Given the description of an element on the screen output the (x, y) to click on. 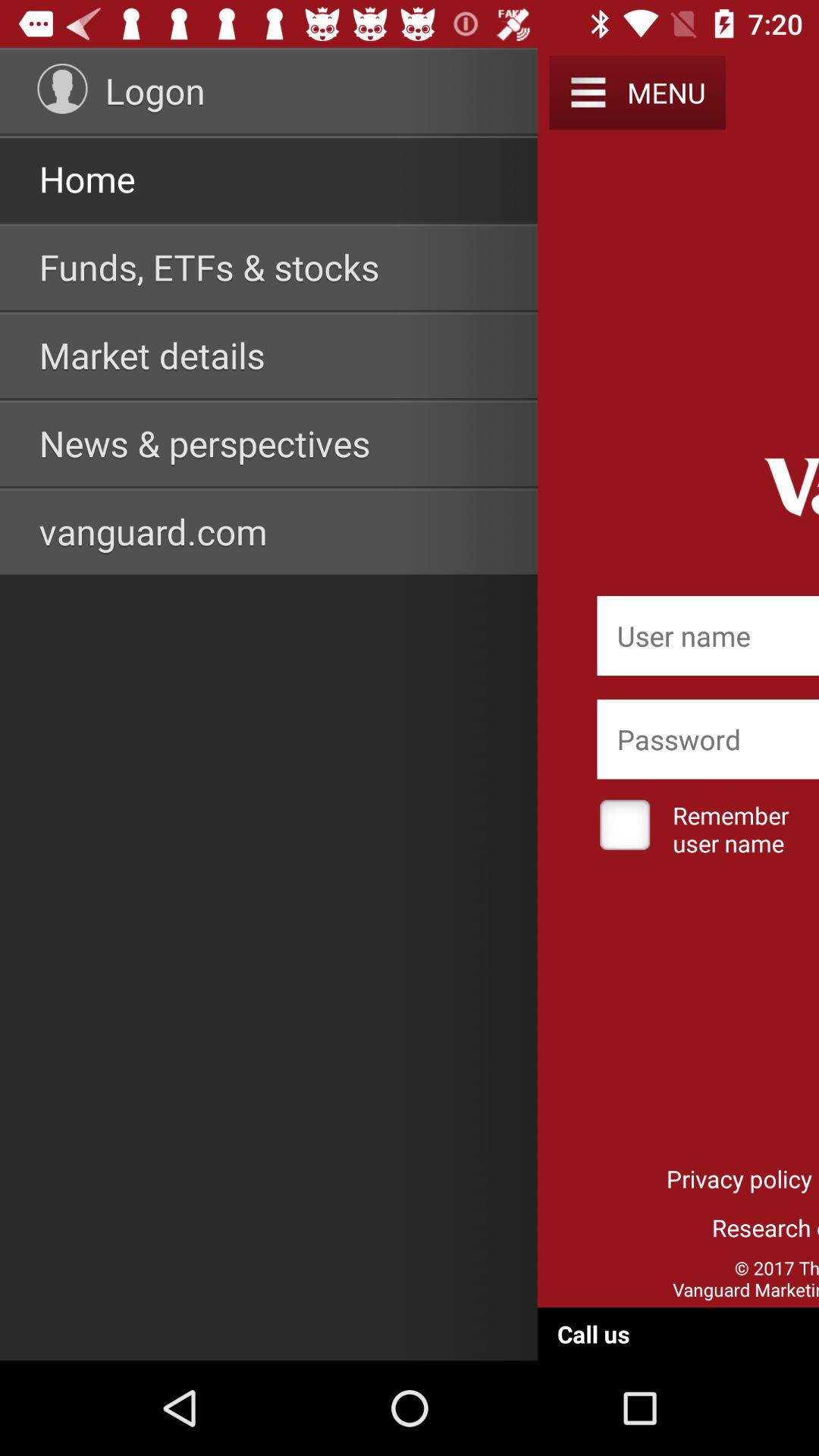
turn off icon above research our firm app (739, 1178)
